Given the description of an element on the screen output the (x, y) to click on. 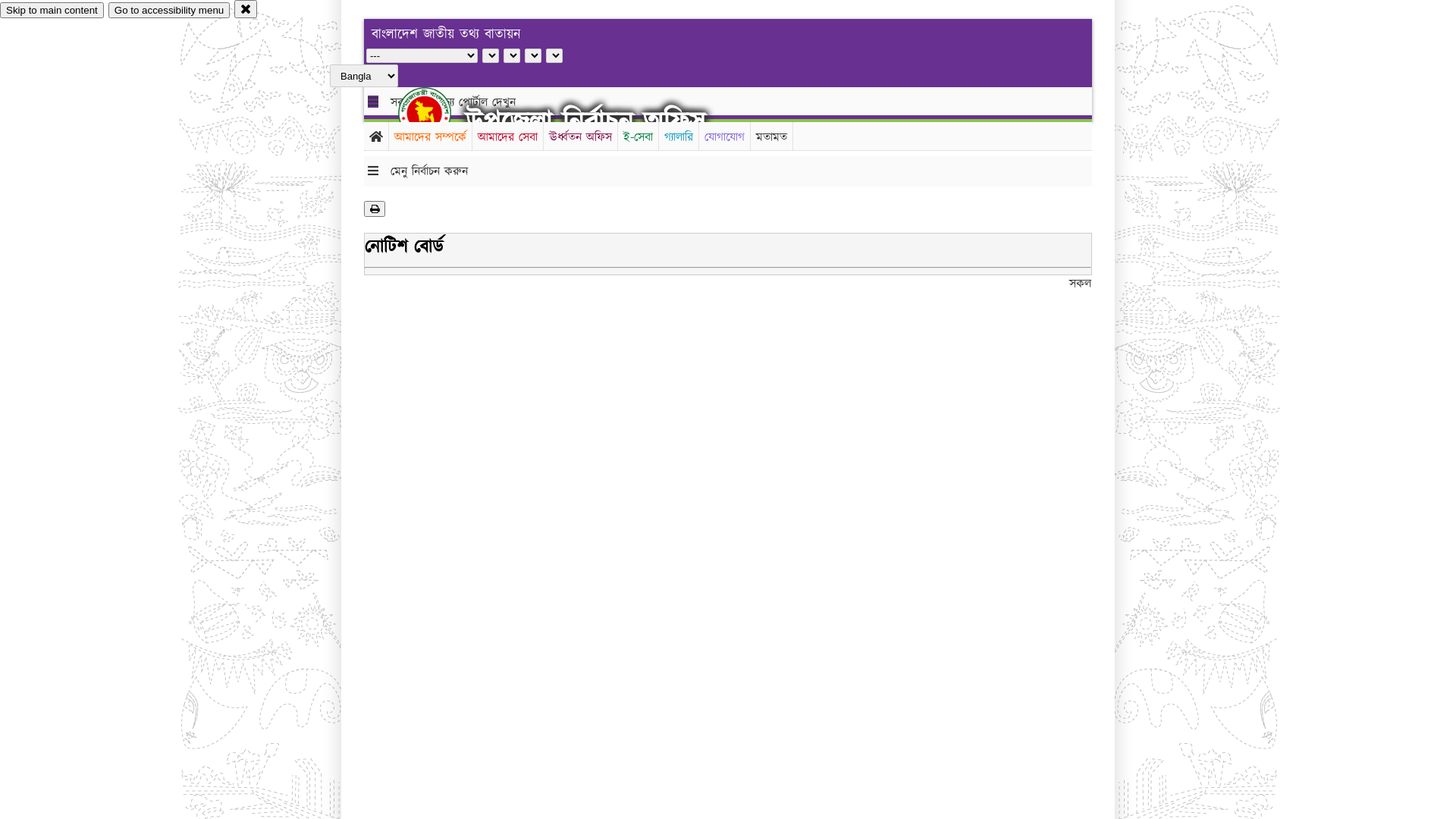
Go to accessibility menu Element type: text (168, 10)
Skip to main content Element type: text (51, 10)

                
             Element type: hover (437, 112)
close Element type: hover (245, 9)
